Given the description of an element on the screen output the (x, y) to click on. 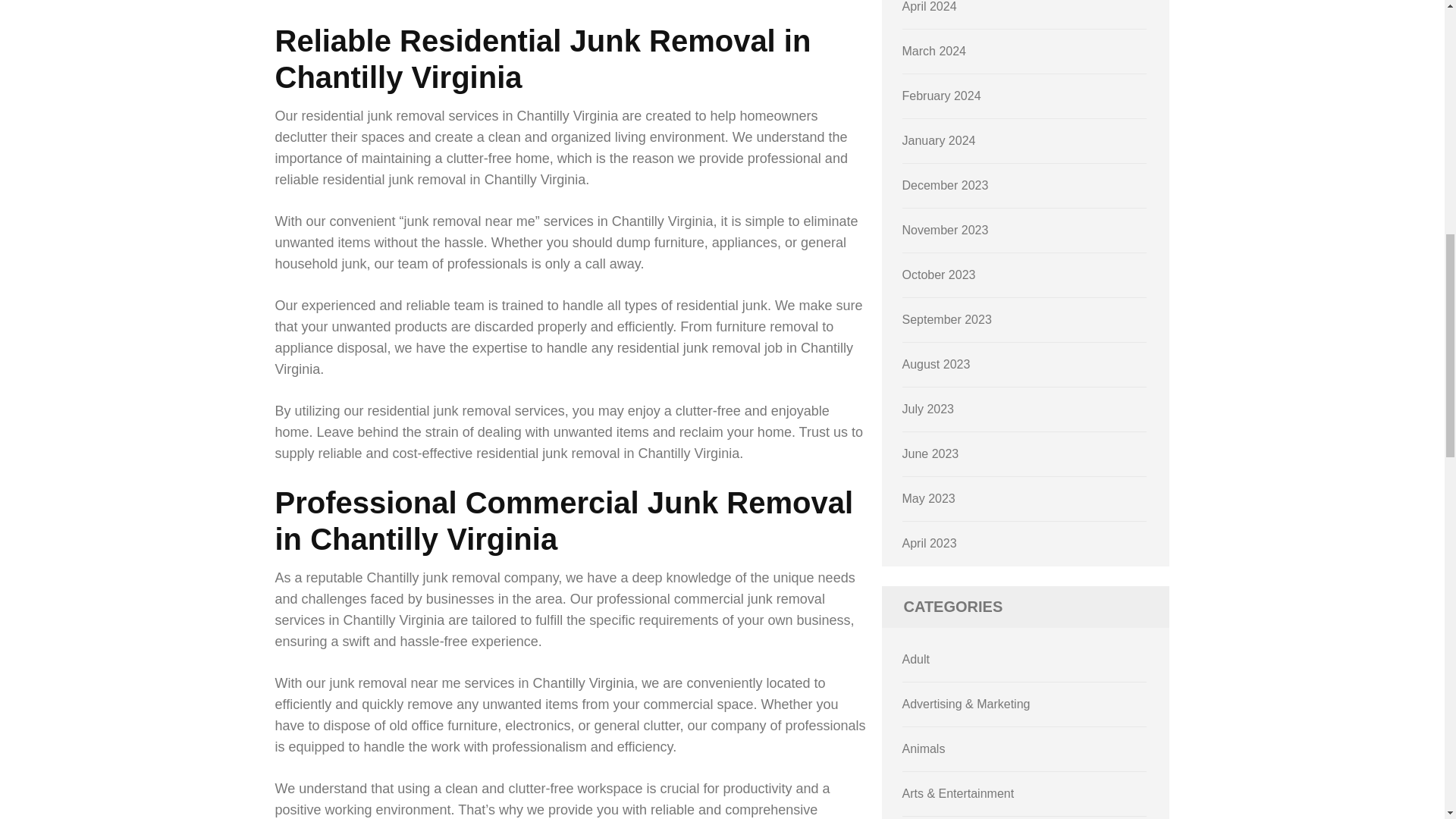
February 2024 (941, 95)
October 2023 (938, 274)
March 2024 (934, 51)
December 2023 (945, 185)
August 2023 (936, 364)
November 2023 (945, 229)
January 2024 (938, 140)
May 2023 (928, 498)
June 2023 (930, 453)
Animals (923, 748)
July 2023 (928, 408)
September 2023 (946, 318)
April 2023 (929, 543)
April 2024 (929, 6)
Adult (916, 658)
